Given the description of an element on the screen output the (x, y) to click on. 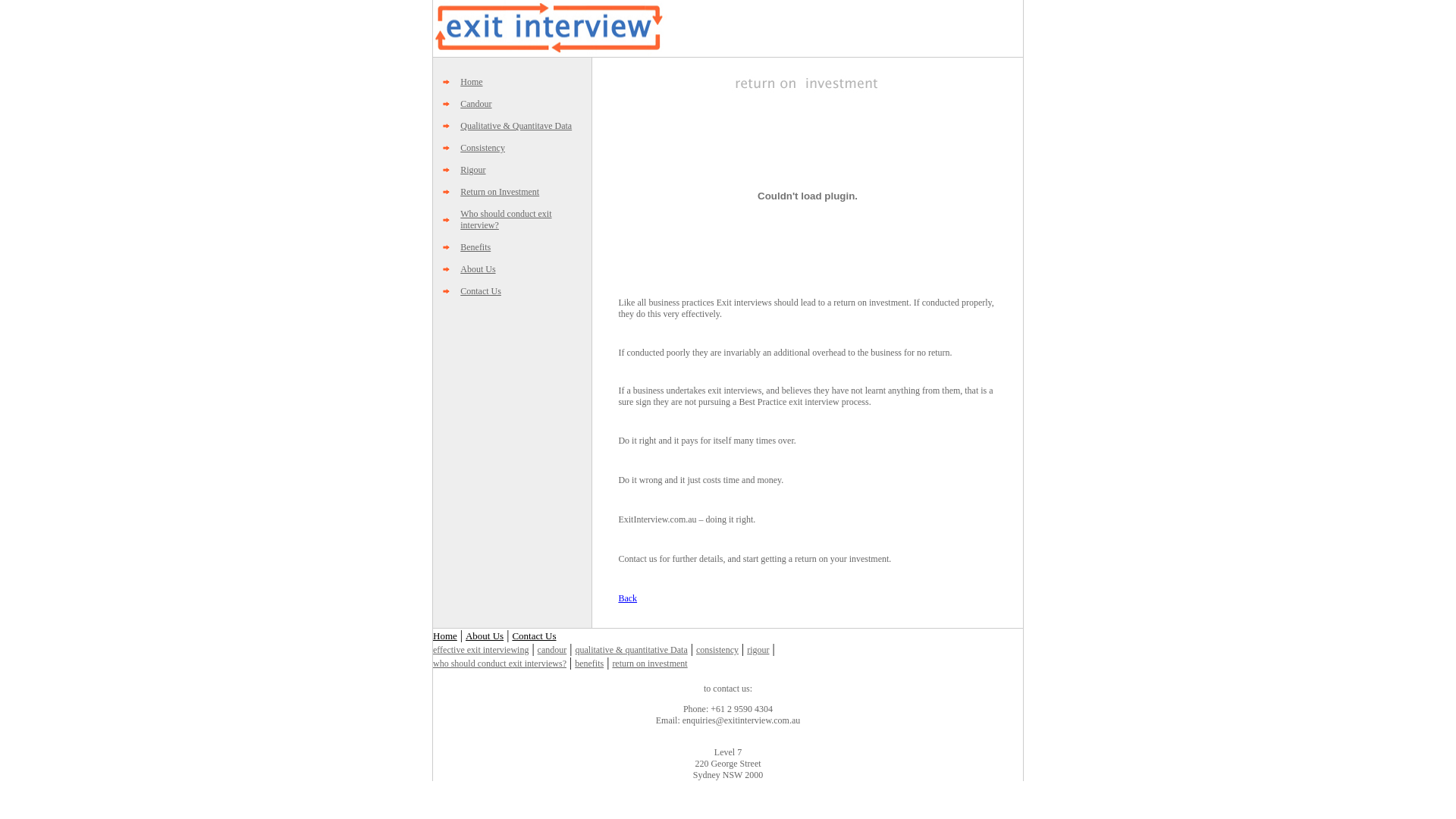
Benefits Element type: text (475, 246)
Home Element type: text (445, 635)
Who should conduct exit interview? Element type: text (505, 219)
Contact Us Element type: text (480, 290)
Home Element type: text (471, 81)
About Us Element type: text (477, 268)
Qualitative & Quantitave Data Element type: text (515, 125)
Return on Investment Element type: text (499, 191)
Candour Element type: text (475, 103)
Rigour Element type: text (472, 169)
benefits Element type: text (588, 663)
Back Element type: text (627, 598)
who should conduct exit interviews? Element type: text (499, 663)
return on investment Element type: text (649, 663)
candour Element type: text (552, 649)
About Us Element type: text (484, 635)
rigour Element type: text (757, 649)
Consistency Element type: text (482, 147)
qualitative & quantitative Data Element type: text (630, 649)
Contact Us Element type: text (533, 635)
consistency Element type: text (717, 649)
effective exit interviewing Element type: text (480, 649)
